Given the description of an element on the screen output the (x, y) to click on. 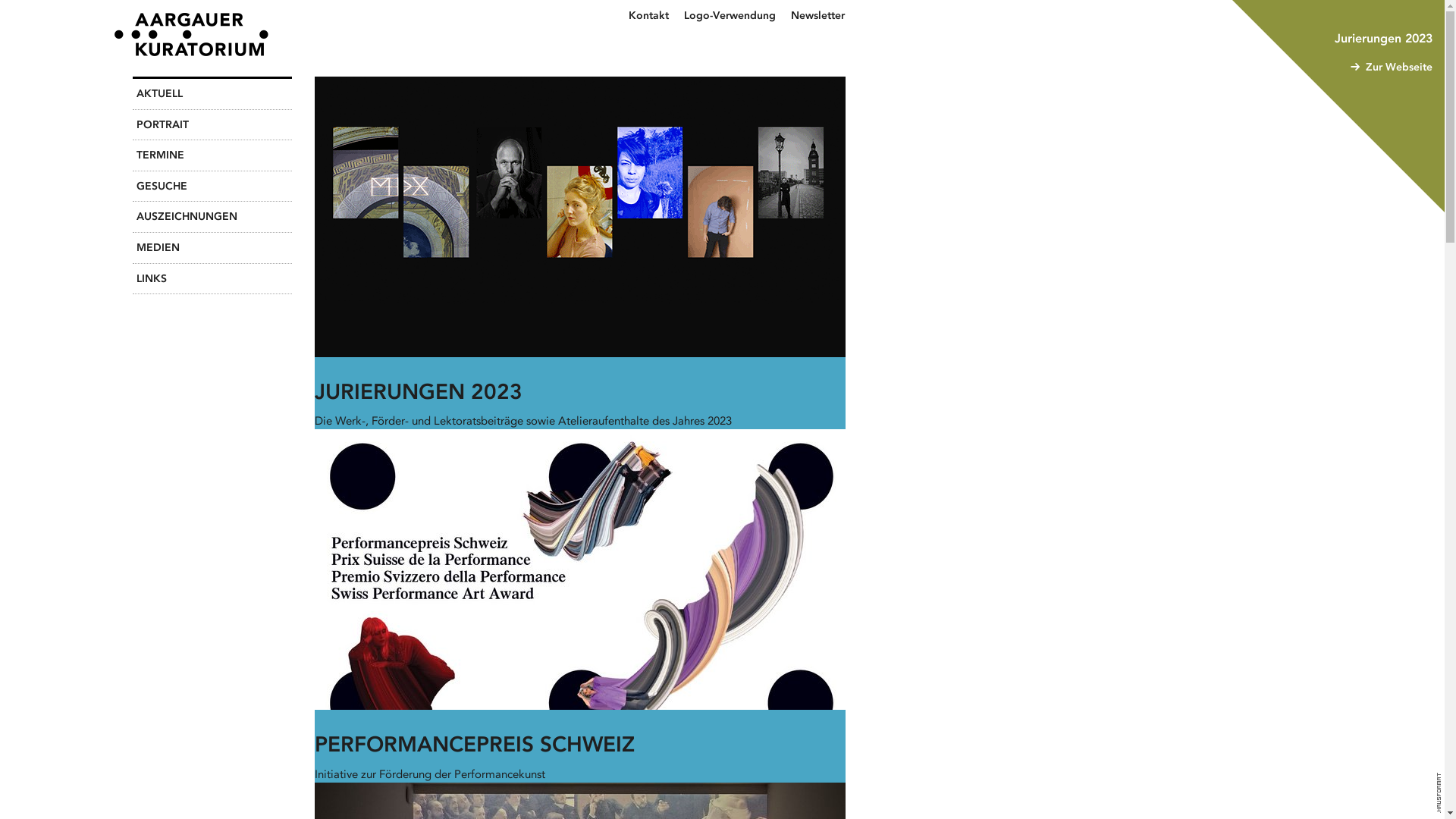
LINKS Element type: text (211, 278)
PORTRAIT Element type: text (211, 125)
https://2023.jurierungen.aargauerkuratorium.ch/ Element type: text (579, 253)
MEDIEN Element type: text (211, 247)
Logo-Verwendung Element type: text (729, 16)
TERMINE Element type: text (211, 155)
Jurierungen 2023
Zur Webseite Element type: text (1338, 106)
AKTUELL Element type: text (211, 93)
Kontakt Element type: text (648, 16)
GESUCHE Element type: text (211, 186)
AUSZEICHNUNGEN Element type: text (211, 216)
t3://page?uid=110 Element type: text (579, 606)
Newsletter Element type: text (817, 16)
